Given the description of an element on the screen output the (x, y) to click on. 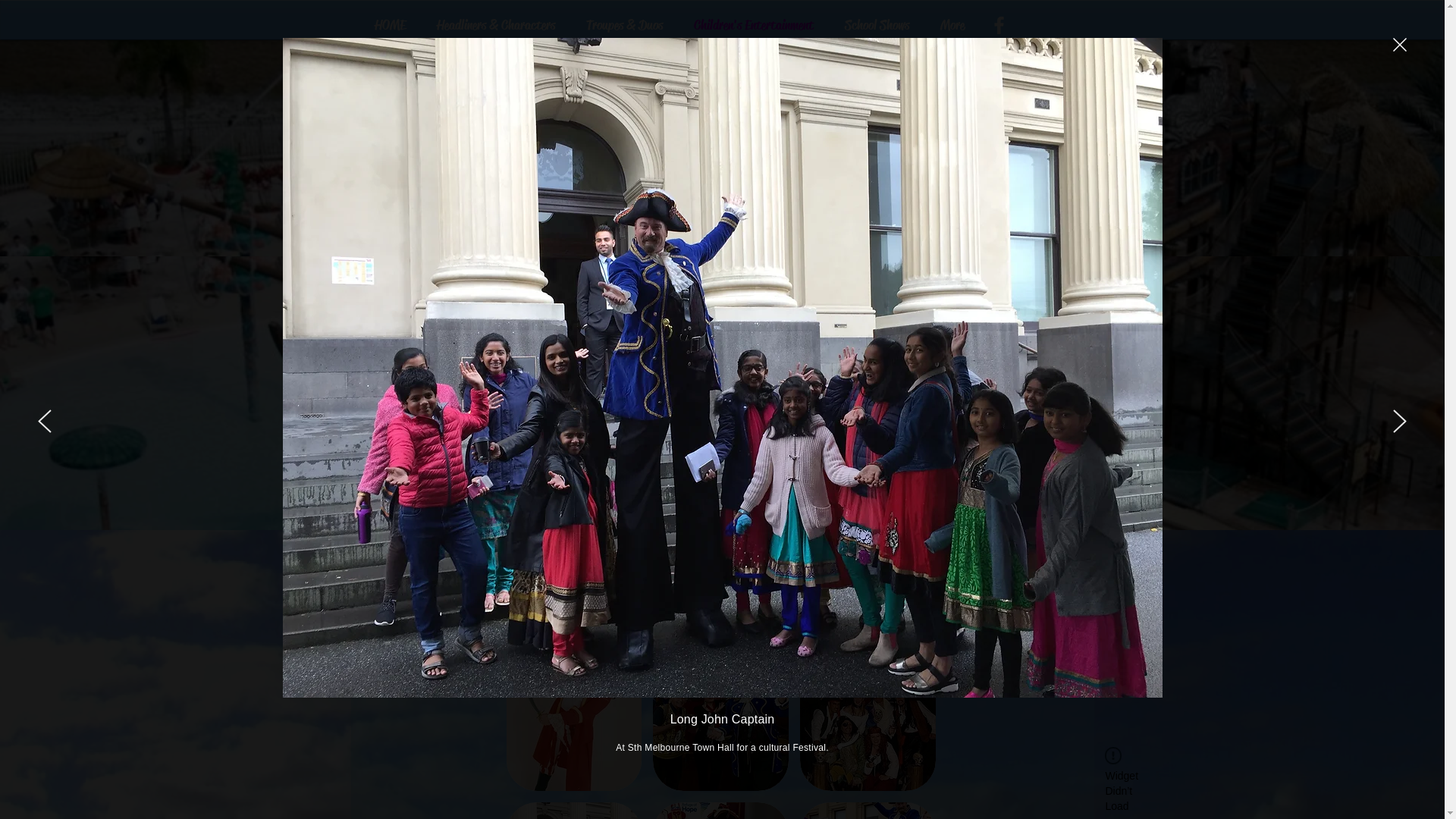
Troupes & Duos Element type: text (623, 24)
Headliners & Characters Element type: text (496, 24)
School Shows Element type: text (877, 24)
HOME Element type: text (388, 24)
Children's Entertainment Element type: text (752, 24)
